Given the description of an element on the screen output the (x, y) to click on. 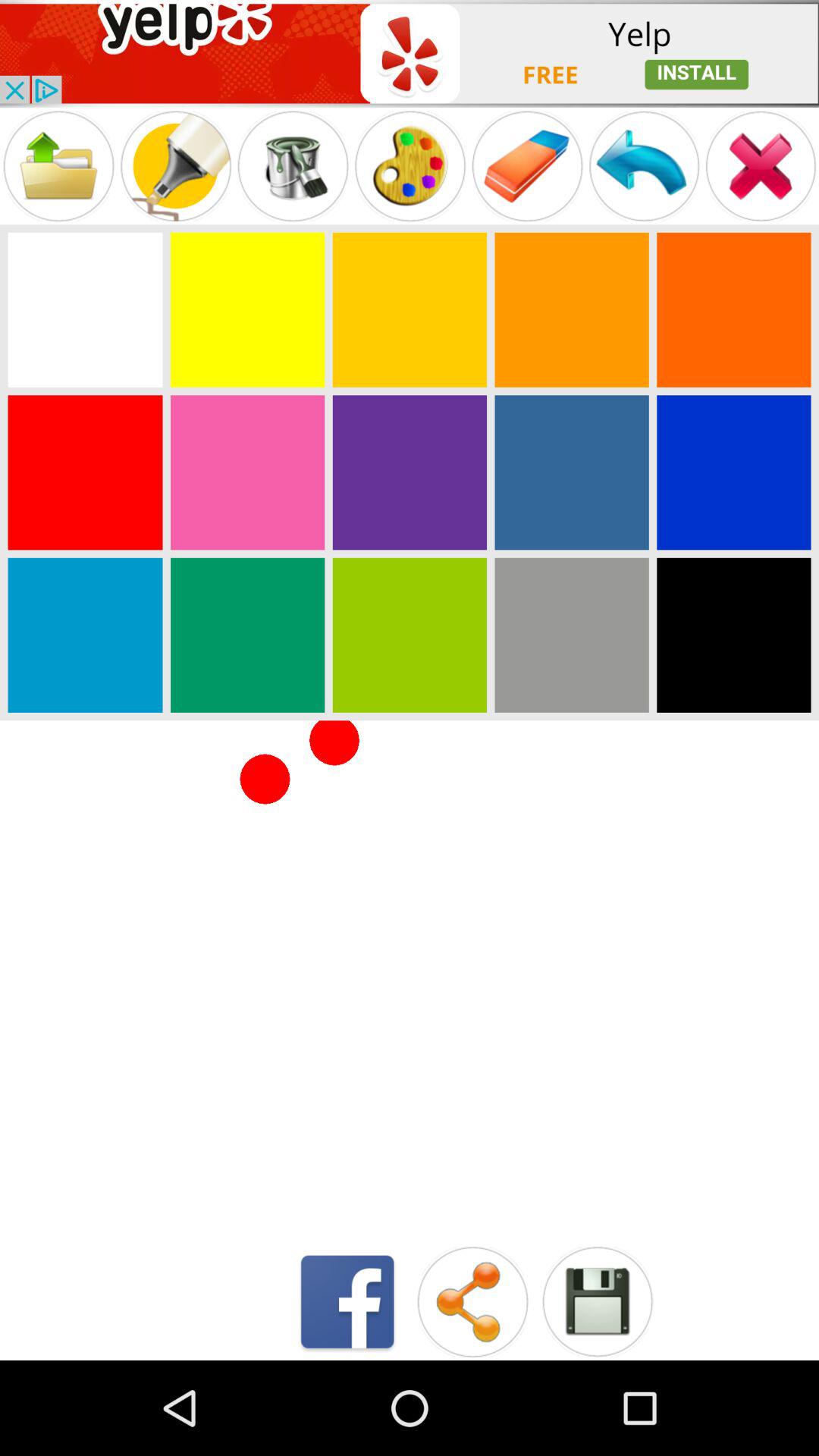
colours (84, 309)
